Given the description of an element on the screen output the (x, y) to click on. 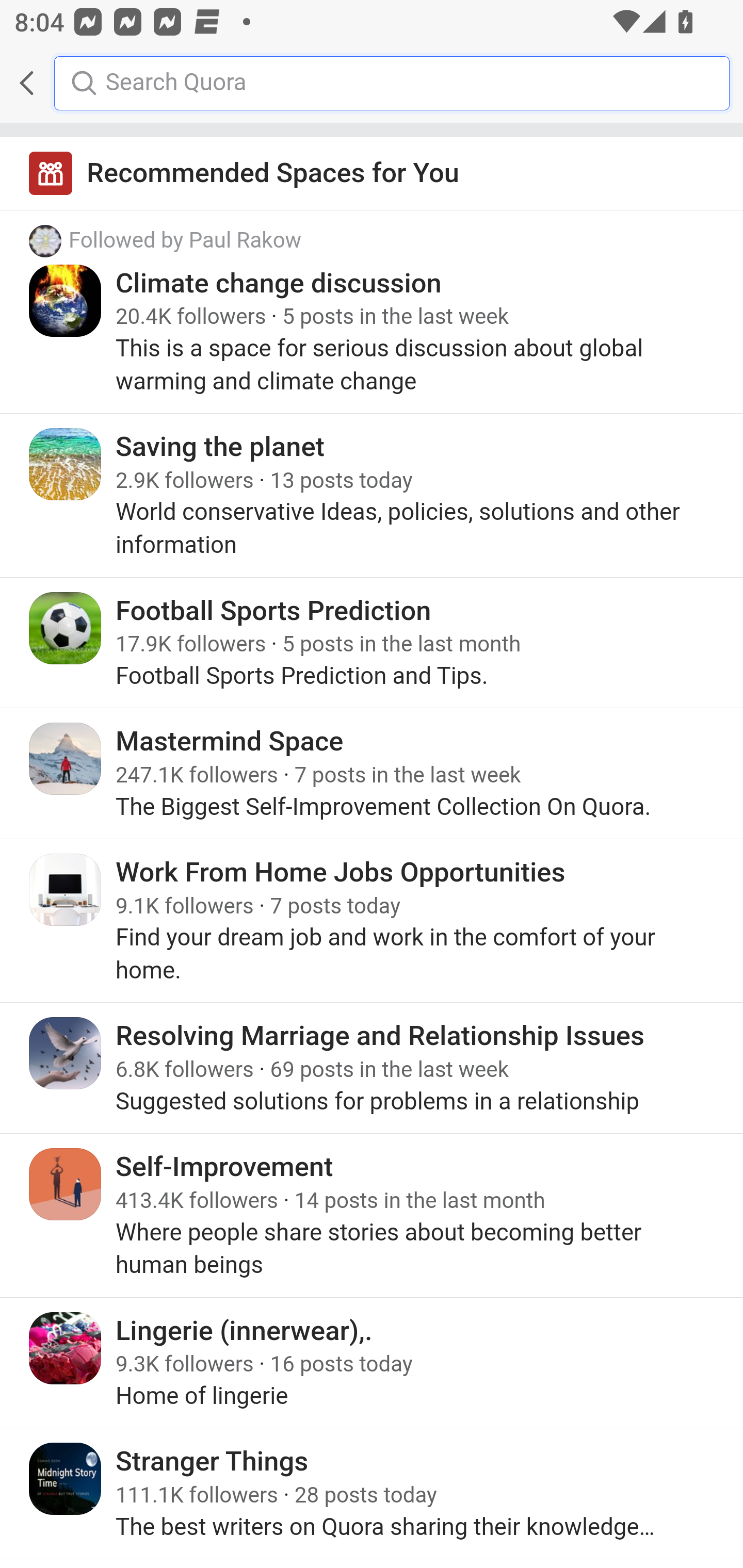
Me Home Search Add (371, 82)
Icon for Climate change discussion (65, 300)
Icon for Saving the planet (65, 464)
Icon for Football Sports Prediction (65, 627)
Icon for Mastermind Space (65, 759)
Icon for Work From Home Jobs Opportunities (65, 889)
Icon for Self-Improvement (65, 1184)
Icon for Lingerie (innerwear),. (65, 1347)
Icon for Stranger Things (65, 1479)
